Given the description of an element on the screen output the (x, y) to click on. 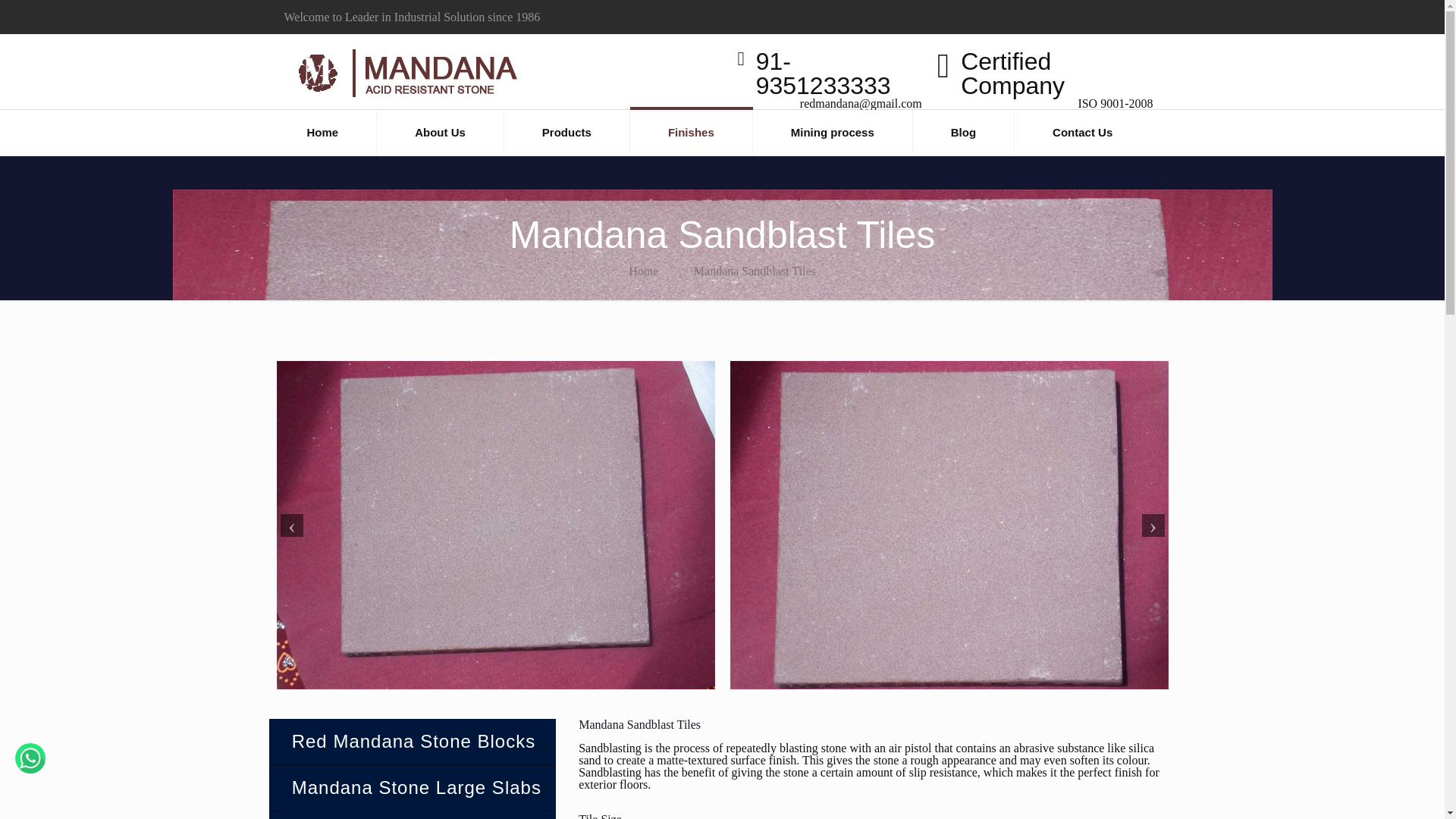
Mining process (832, 132)
Home (643, 270)
Red Mandana Stone Company (405, 71)
Products (566, 132)
Finishes (691, 132)
Mandana Stone Large Slabs (412, 787)
Blog (963, 132)
Contact Us (1082, 132)
About Us (440, 132)
Red Mandana Stone Blocks (412, 741)
Mandana Cobbles (412, 815)
Home (322, 132)
